Given the description of an element on the screen output the (x, y) to click on. 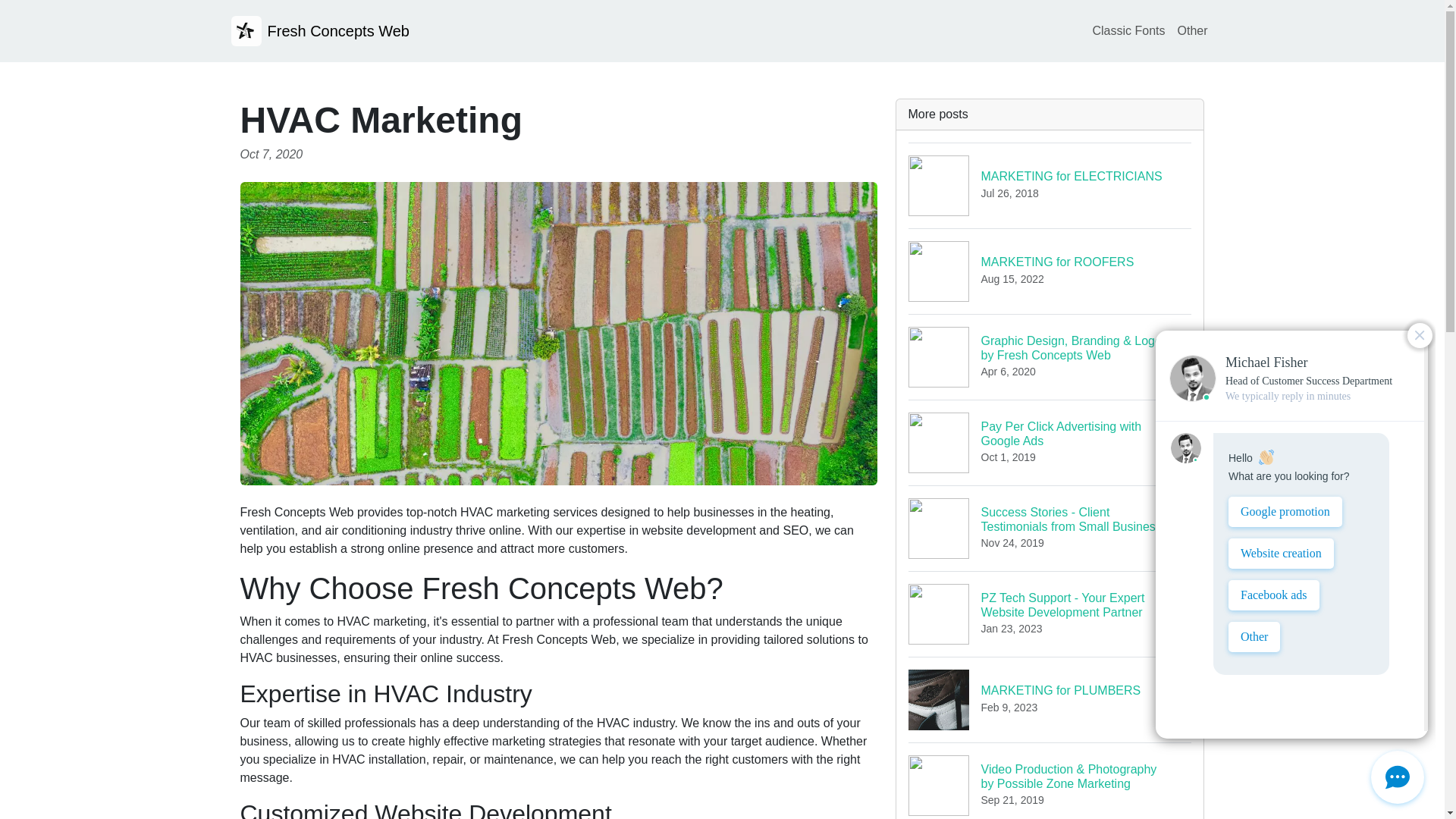
Other (1050, 185)
Fresh Concepts Web (1050, 699)
Classic Fonts (1191, 30)
